Given the description of an element on the screen output the (x, y) to click on. 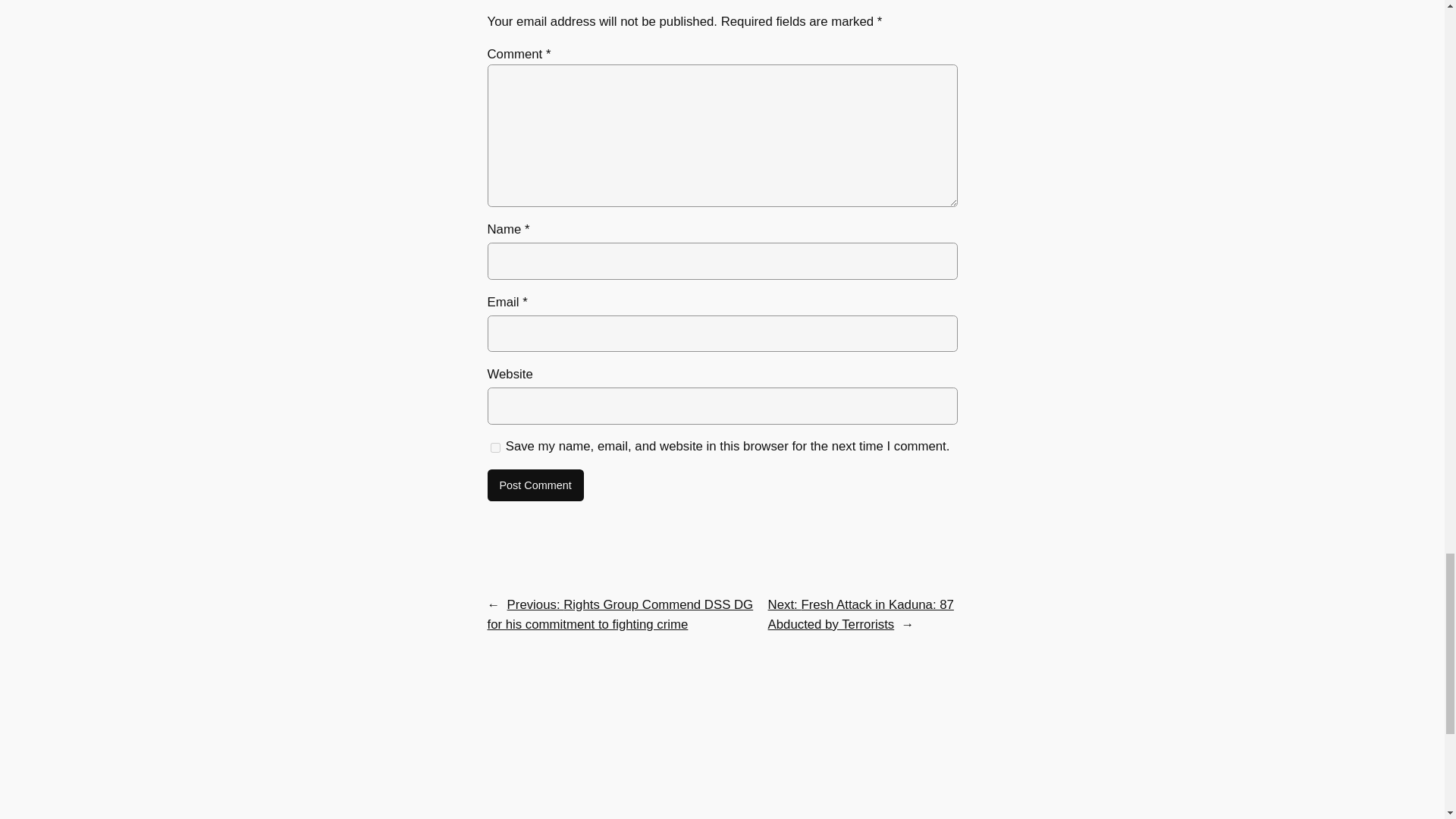
Next: Fresh Attack in Kaduna: 87 Abducted by Terrorists (860, 614)
Post Comment (534, 485)
Post Comment (534, 485)
